Given the description of an element on the screen output the (x, y) to click on. 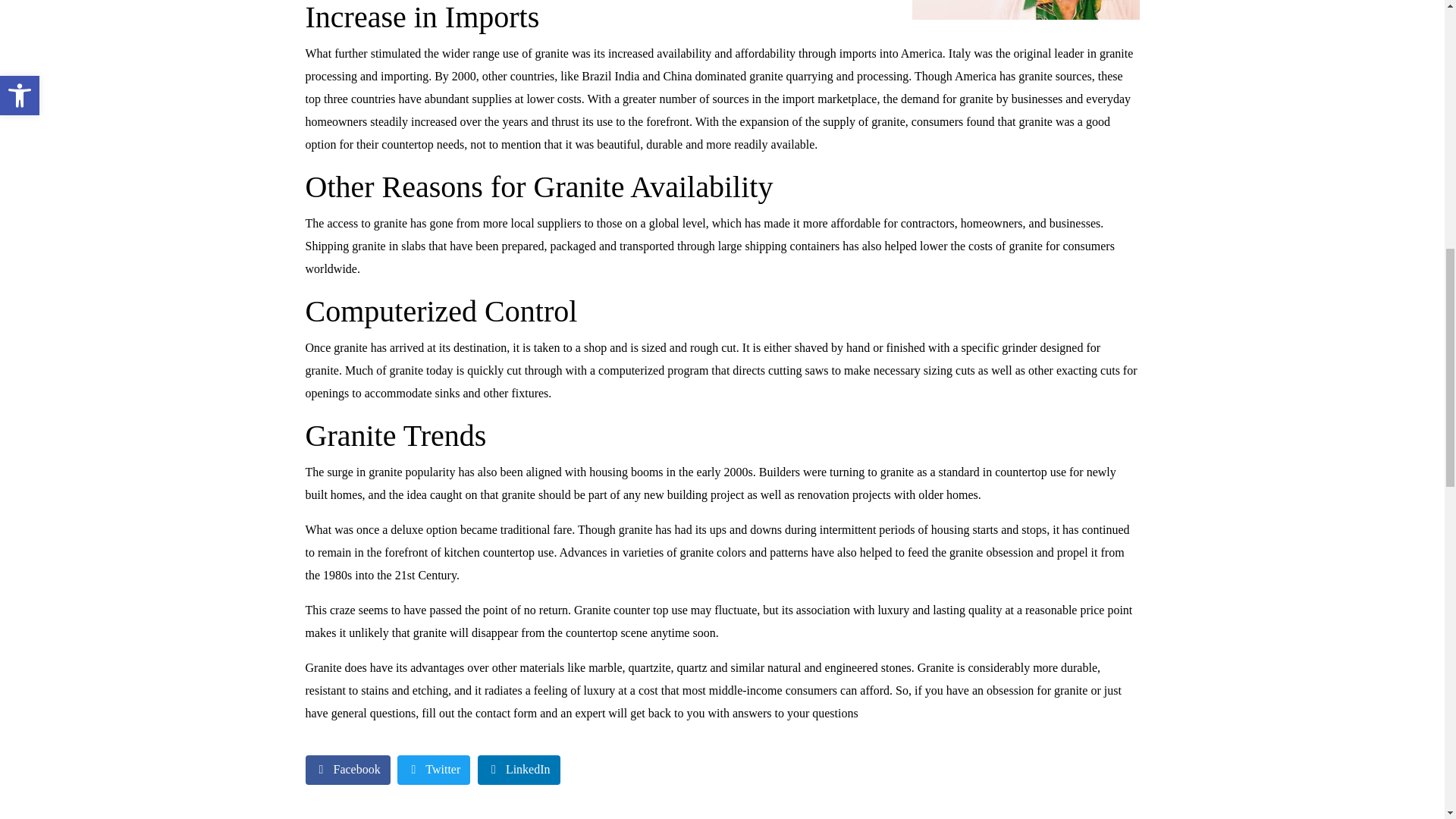
Deborah Sussman (1024, 9)
